Given the description of an element on the screen output the (x, y) to click on. 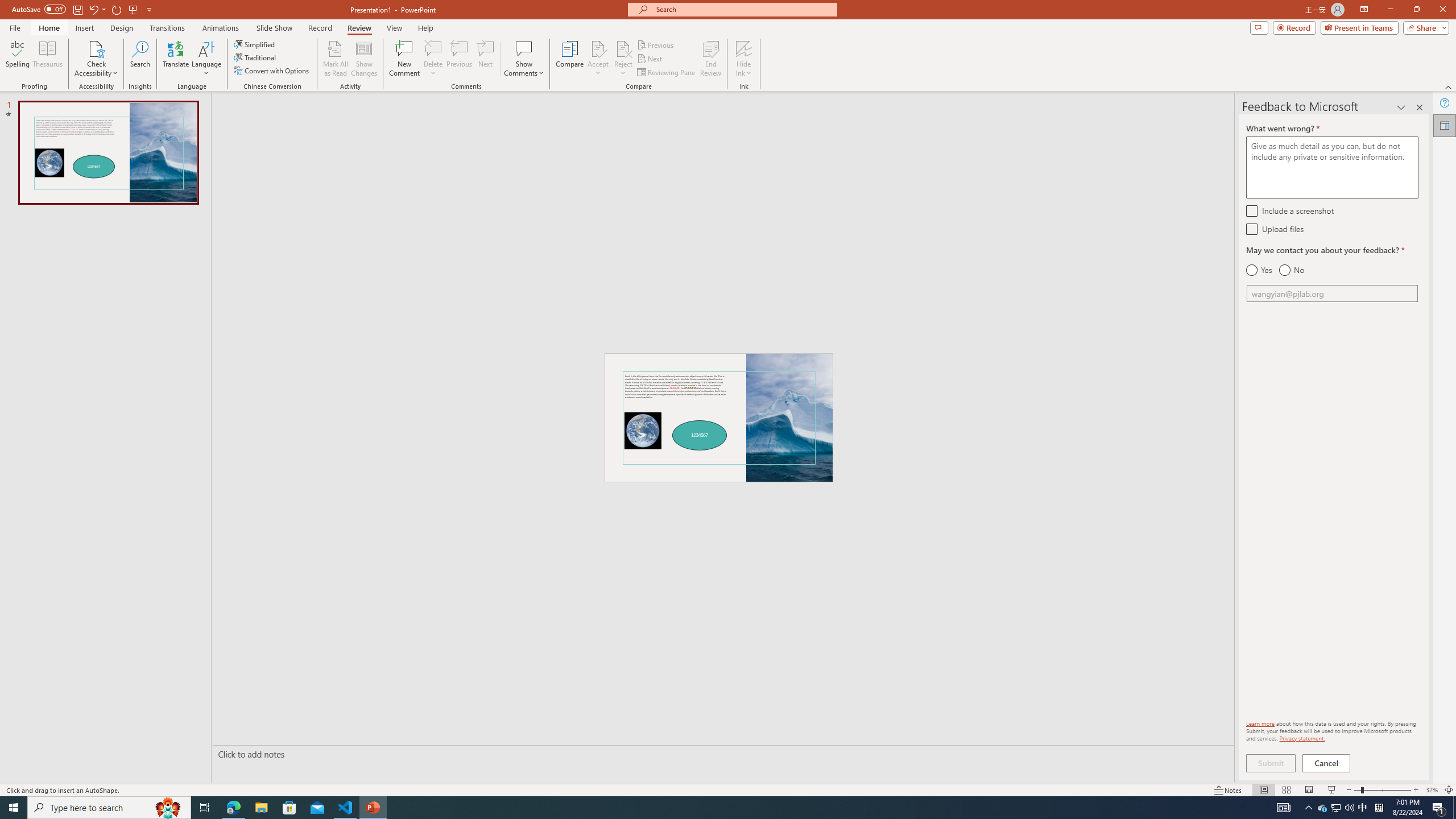
Search (140, 58)
Accept Change (598, 48)
Task Pane Options (1400, 107)
Show Comments (524, 58)
Mark All as Read (335, 58)
Convert with Options... (272, 69)
Show Changes (363, 58)
Feedback to Microsoft (1444, 125)
Show Comments (524, 48)
